Given the description of an element on the screen output the (x, y) to click on. 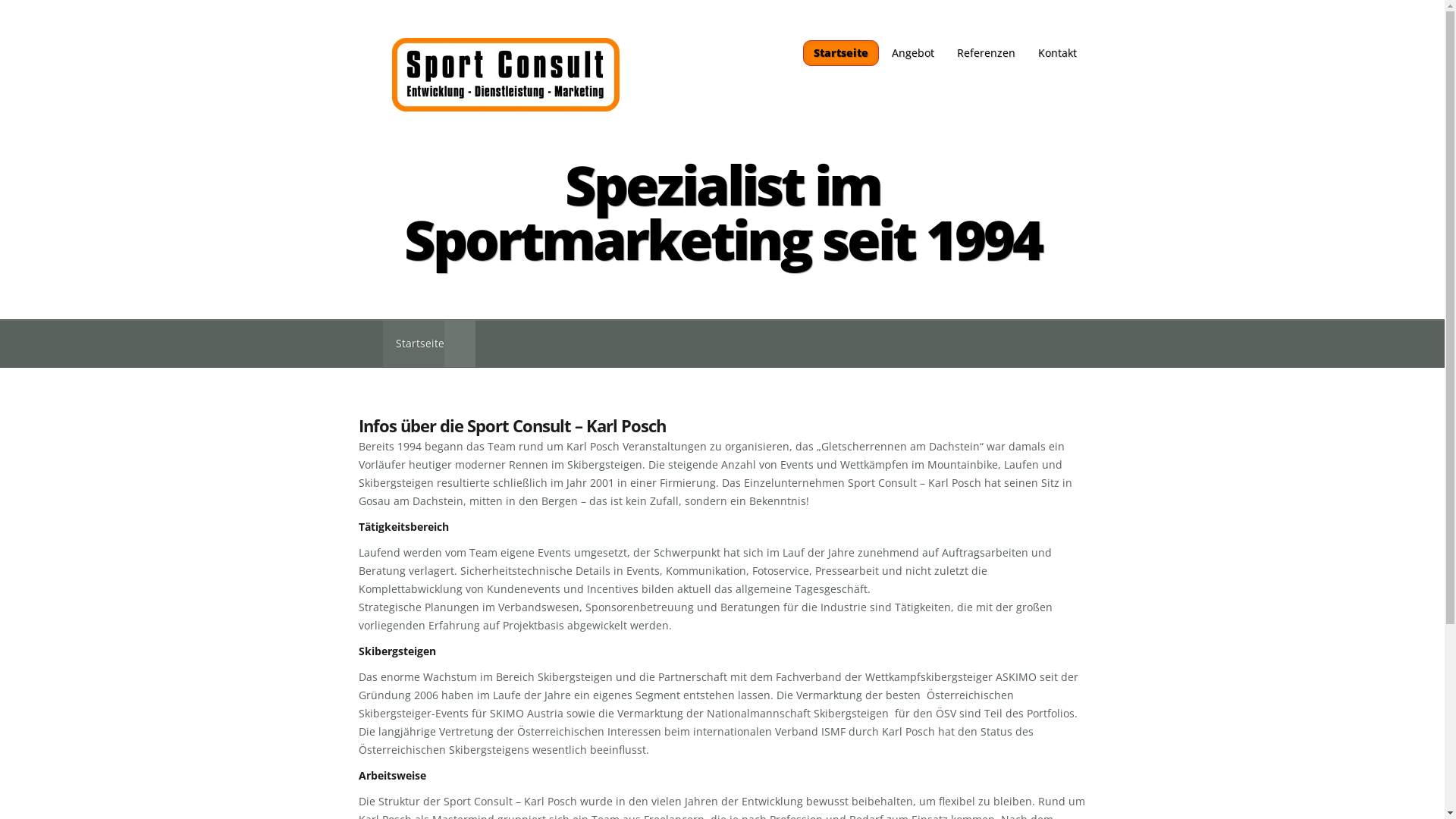
Referenzen Element type: text (985, 52)
Startseite Element type: text (840, 52)
Startseite Element type: text (412, 343)
Kontakt Element type: text (1057, 52)
Angebot Element type: text (912, 52)
